Given the description of an element on the screen output the (x, y) to click on. 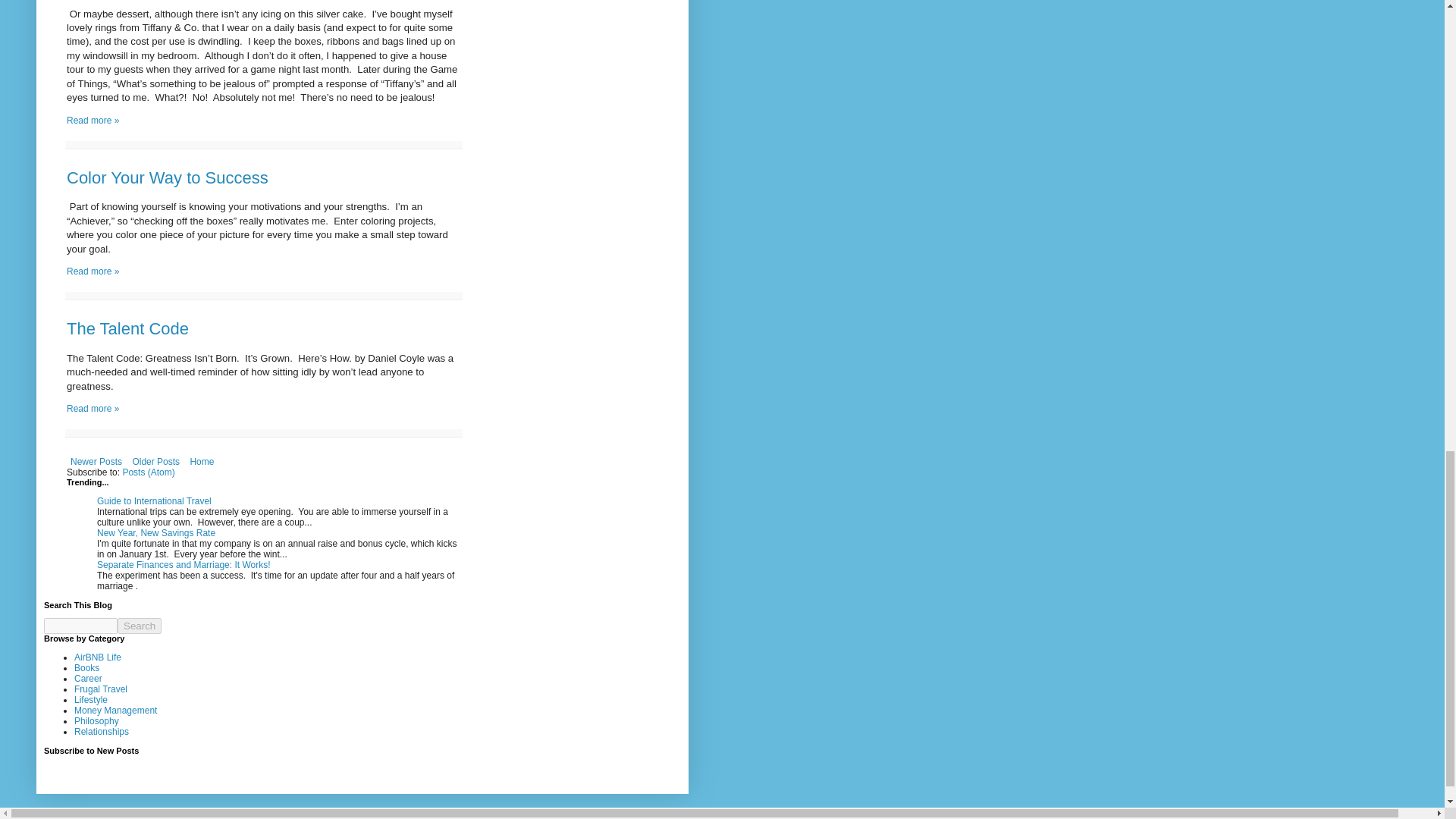
search (139, 625)
Frugal Travel (101, 688)
Newer Posts (95, 461)
AirBNB Life (97, 656)
Separate Finances and Marriage: It Works! (183, 564)
Older Posts (155, 461)
Color Your Way to Success (166, 177)
Lifestyle (90, 699)
Newer Posts (95, 461)
Money Management (115, 710)
